Given the description of an element on the screen output the (x, y) to click on. 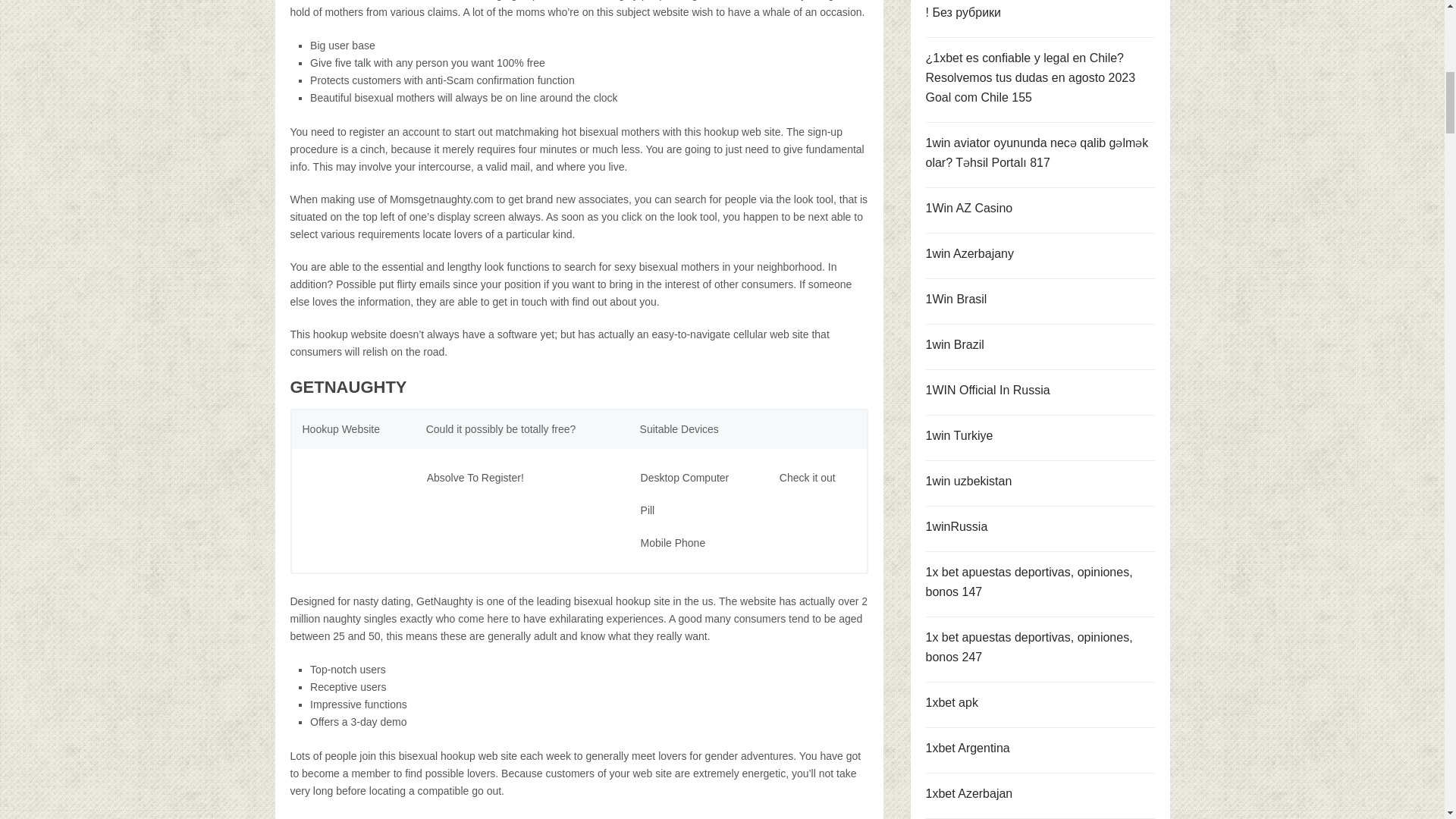
1win uzbekistan (967, 481)
1WIN Official In Russia (986, 390)
1winRussia (955, 526)
1Win Brasil (955, 298)
1win Turkiye (958, 435)
1win Azerbajany (968, 253)
1Win AZ Casino (967, 207)
1win Brazil (954, 344)
